Given the description of an element on the screen output the (x, y) to click on. 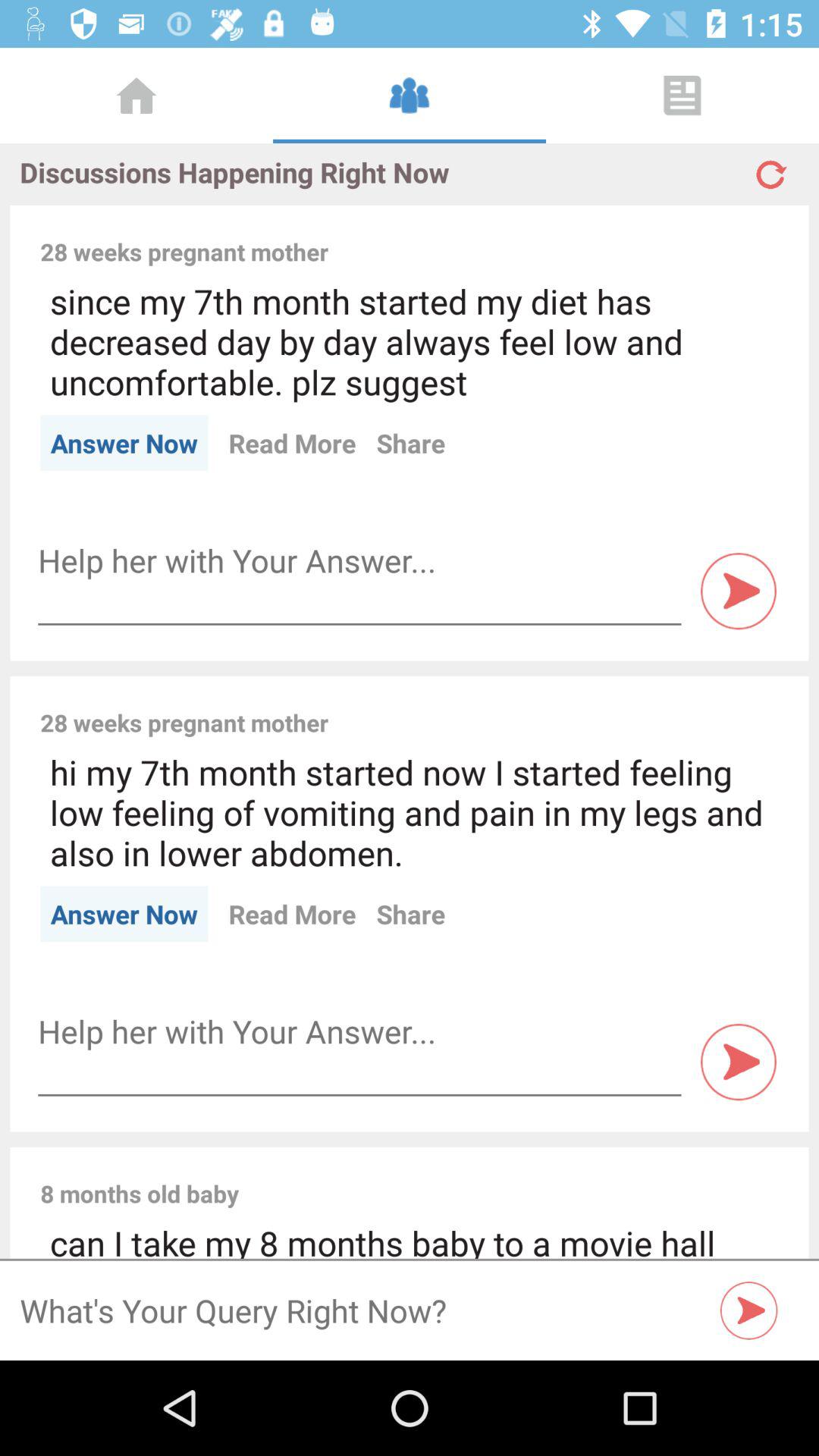
button for start search (749, 1310)
